Given the description of an element on the screen output the (x, y) to click on. 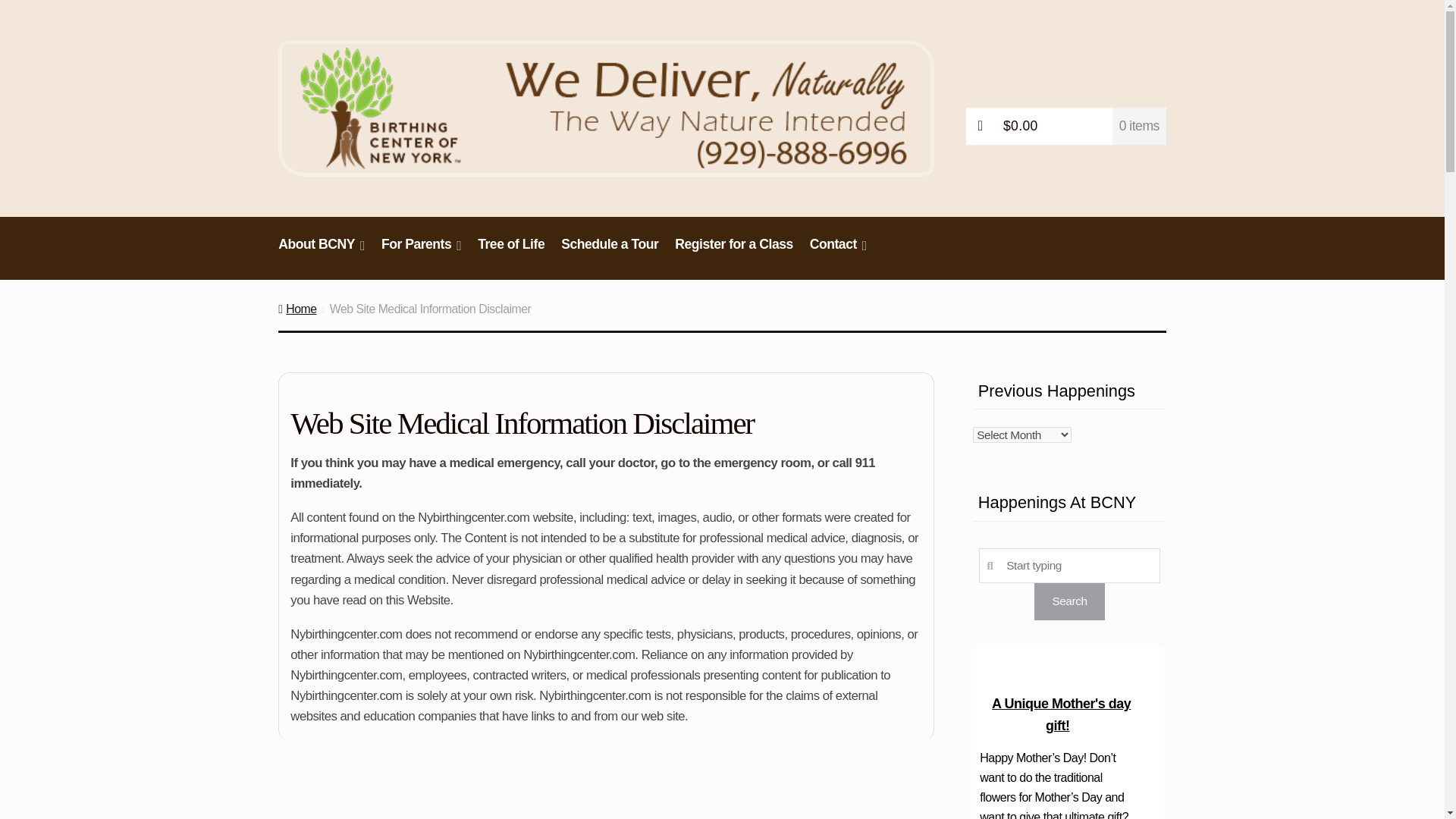
About BCNY (321, 252)
Contact (838, 252)
Register for a Class (733, 252)
Press enter to reset (1069, 565)
Tree of Life (510, 252)
View your shopping cart (1066, 126)
For Parents (420, 252)
Schedule a Tour (609, 252)
Search (1068, 601)
